Given the description of an element on the screen output the (x, y) to click on. 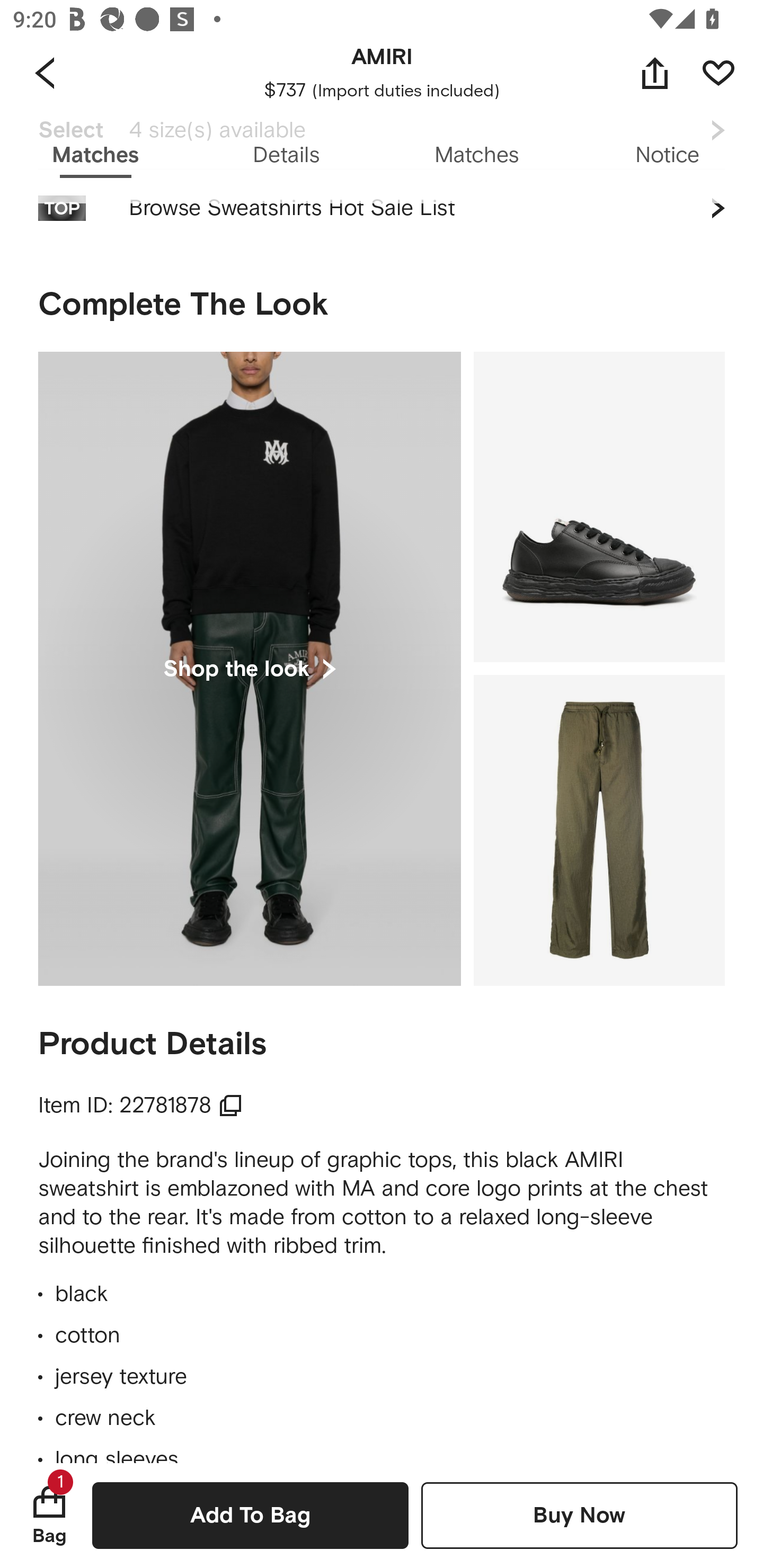
Details (285, 155)
Matches (476, 155)
Notice (667, 155)
Item ID: 22781878 (140, 1106)
Bag 1 (49, 1515)
Add To Bag (250, 1515)
Buy Now (579, 1515)
